Given the description of an element on the screen output the (x, y) to click on. 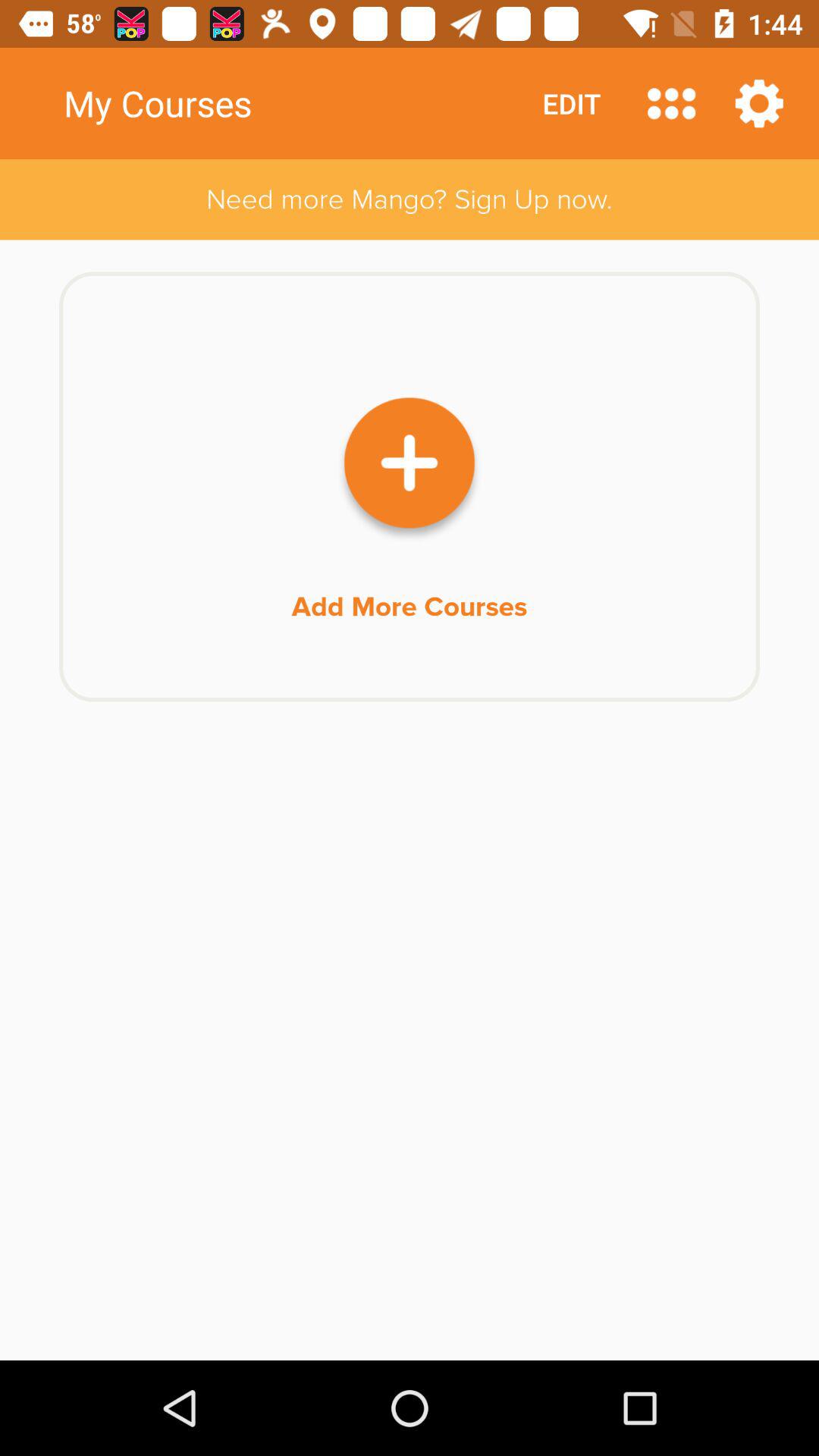
choose categories (671, 103)
